Given the description of an element on the screen output the (x, y) to click on. 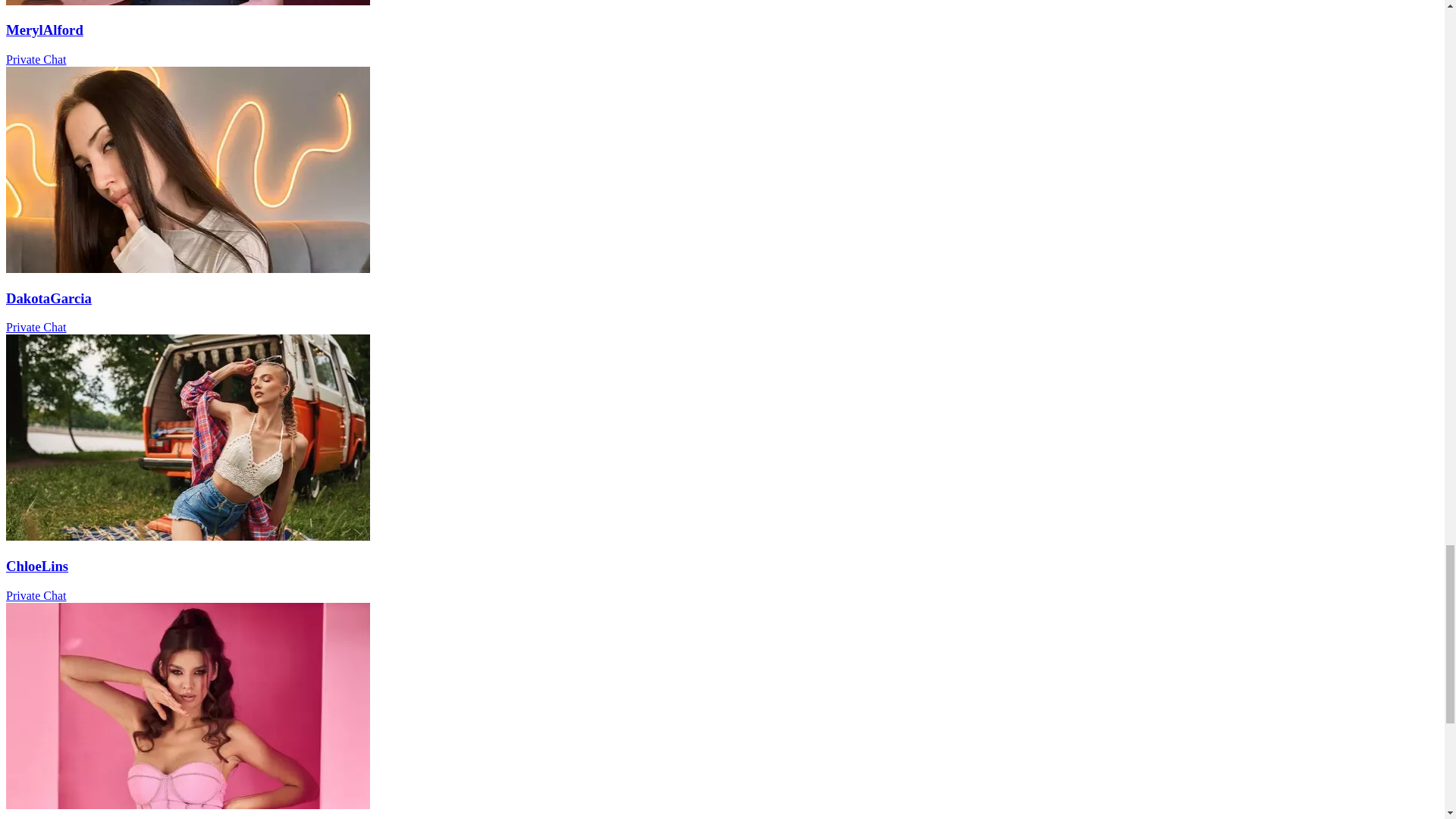
MerylAlford's live cam (187, 3)
